Given the description of an element on the screen output the (x, y) to click on. 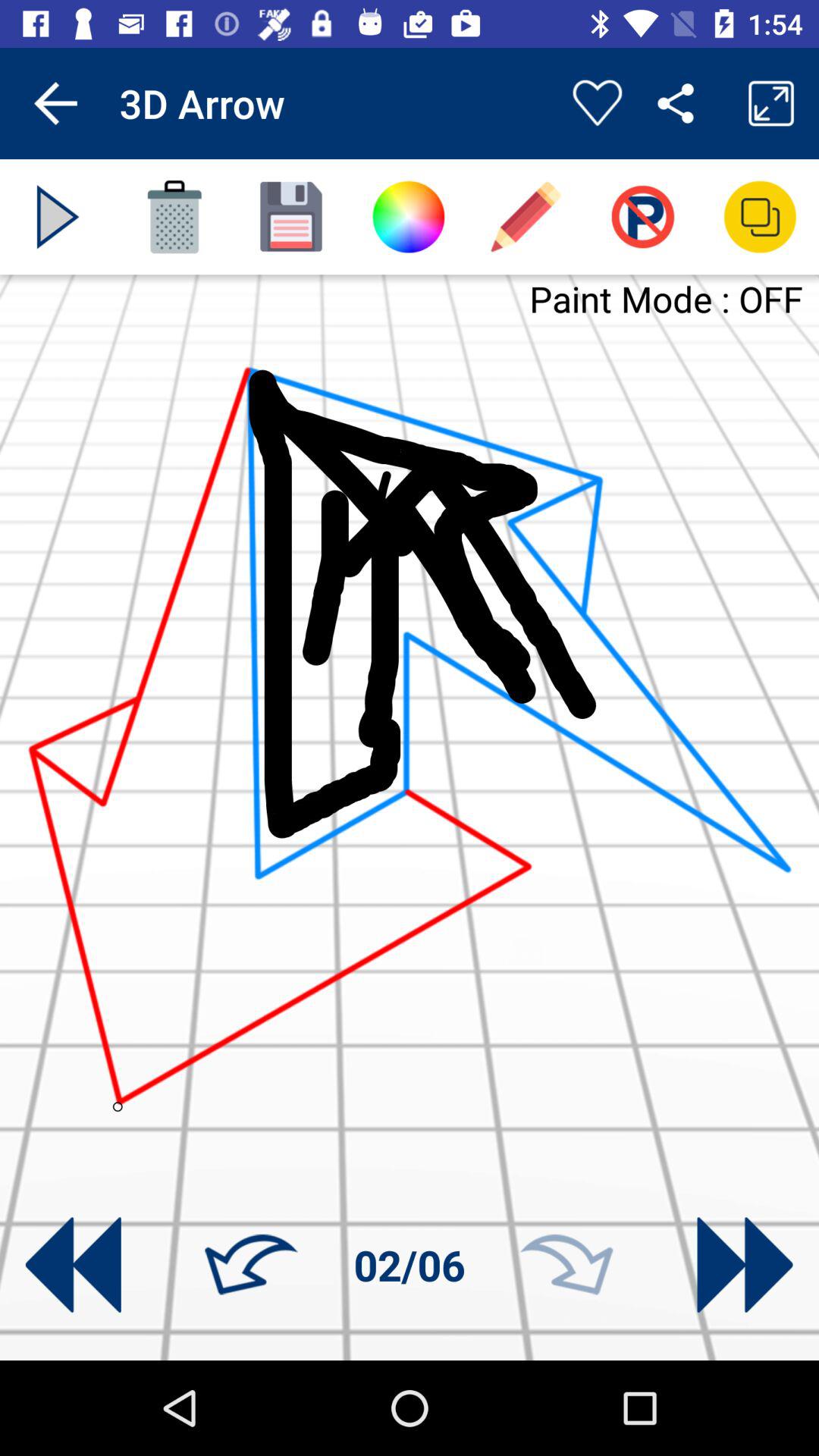
click to save (291, 216)
